Given the description of an element on the screen output the (x, y) to click on. 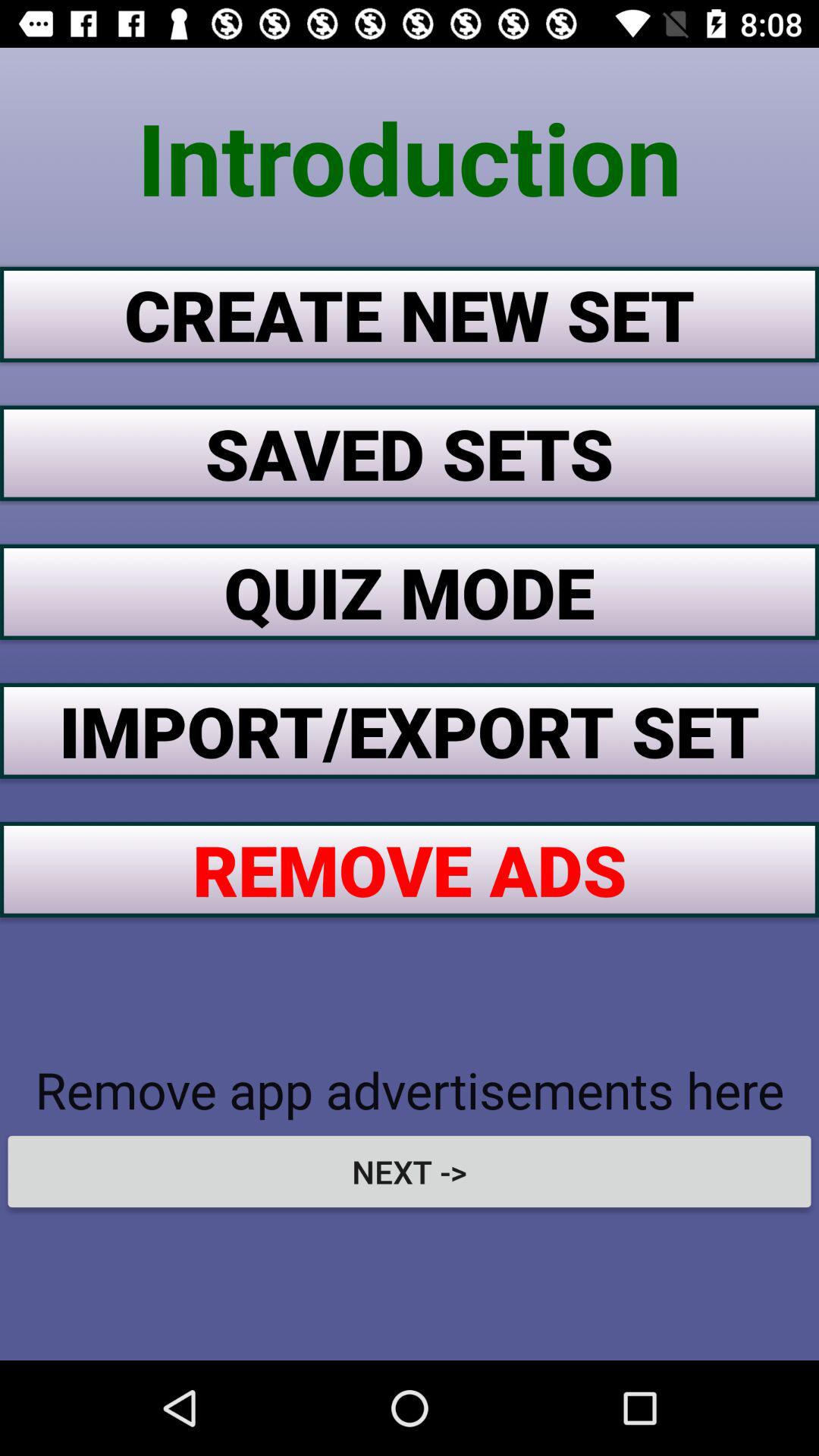
tap the icon above the remove app advertisements item (409, 869)
